Given the description of an element on the screen output the (x, y) to click on. 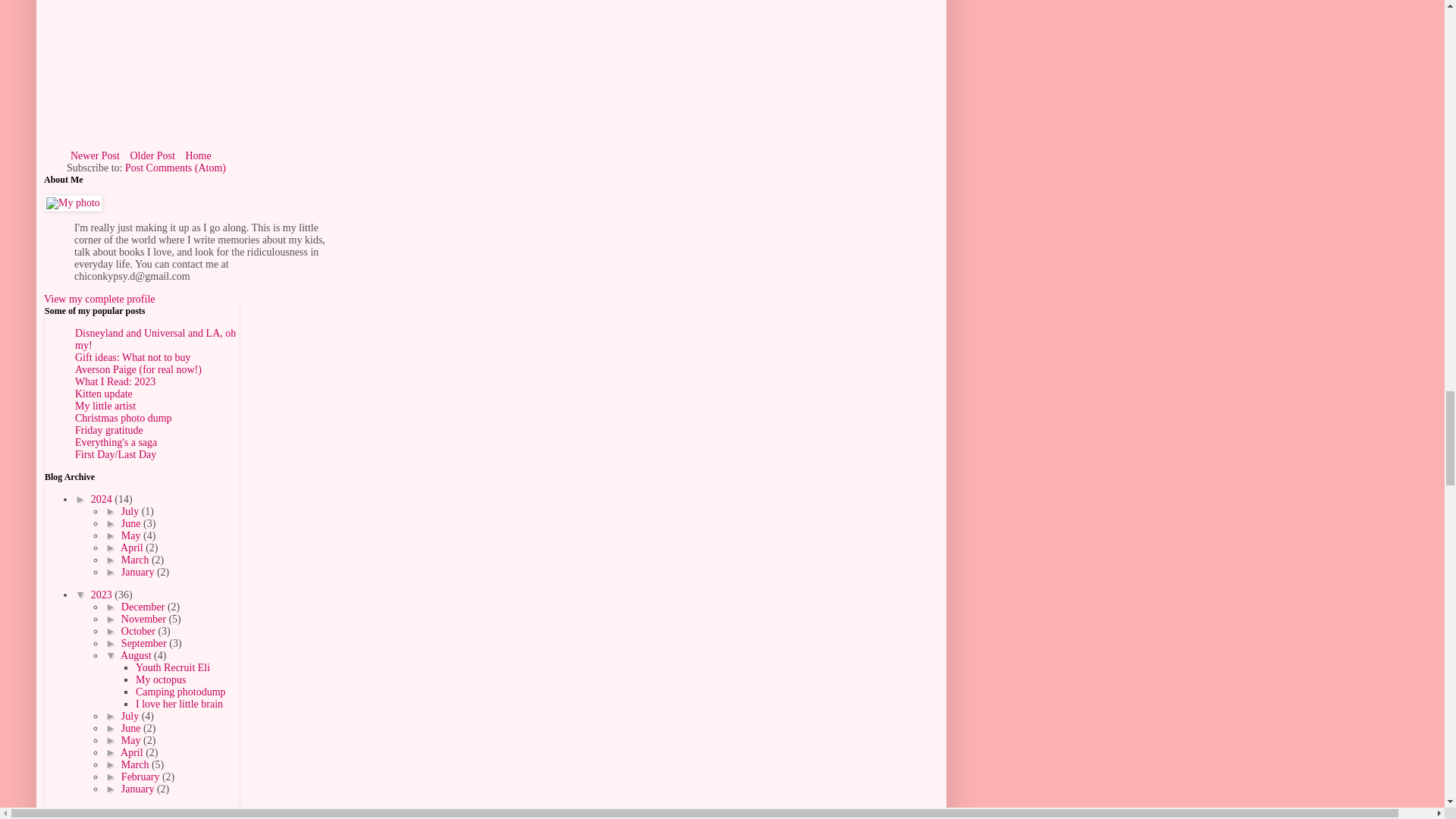
Older Post (152, 155)
Disneyland and Universal and LA, oh my! (155, 339)
View my complete profile (99, 298)
Home (197, 155)
Older Post (152, 155)
Newer Post (94, 155)
Gift ideas: What not to buy (132, 357)
Newer Post (94, 155)
